Given the description of an element on the screen output the (x, y) to click on. 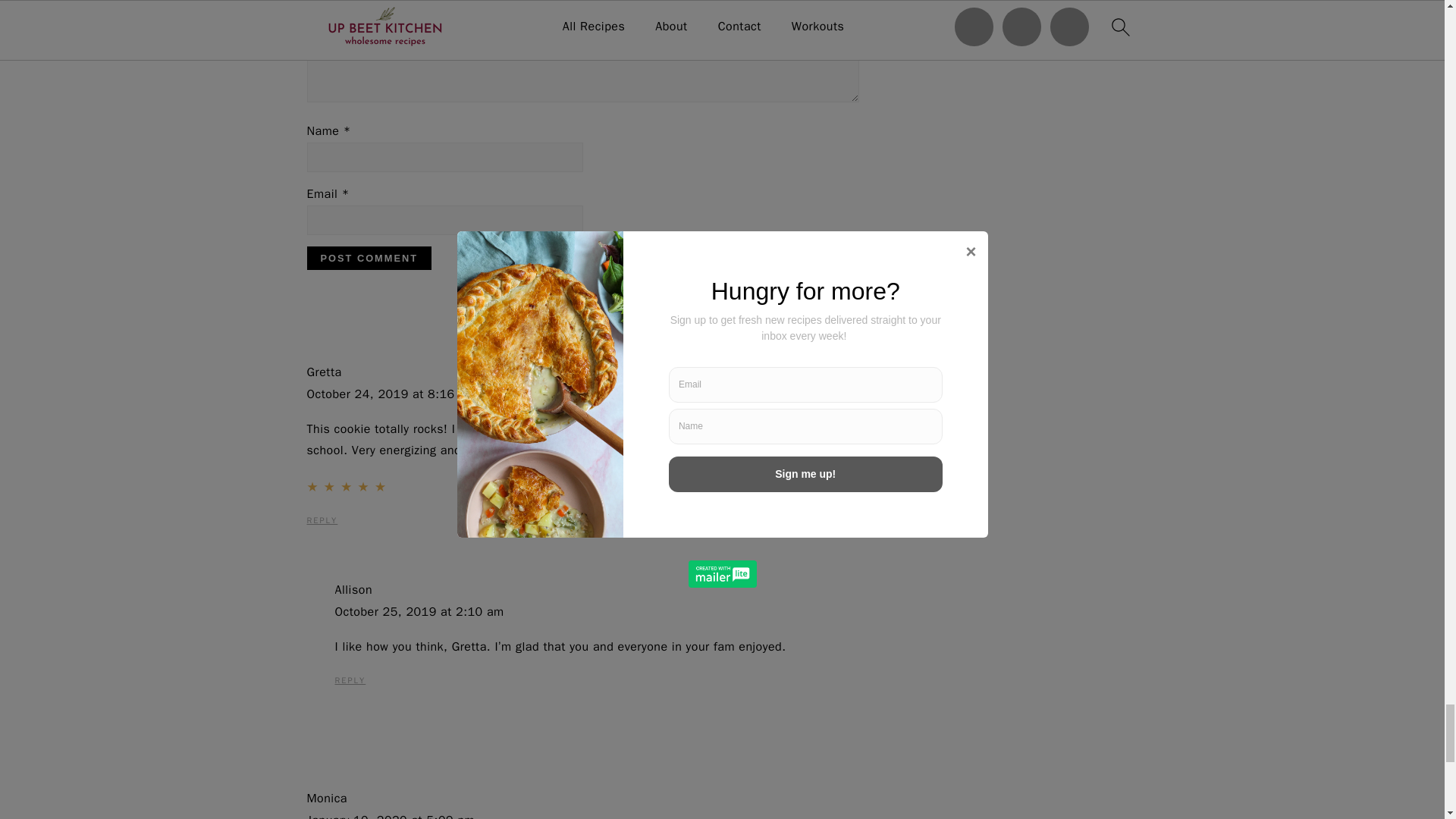
Post Comment (367, 258)
